Given the description of an element on the screen output the (x, y) to click on. 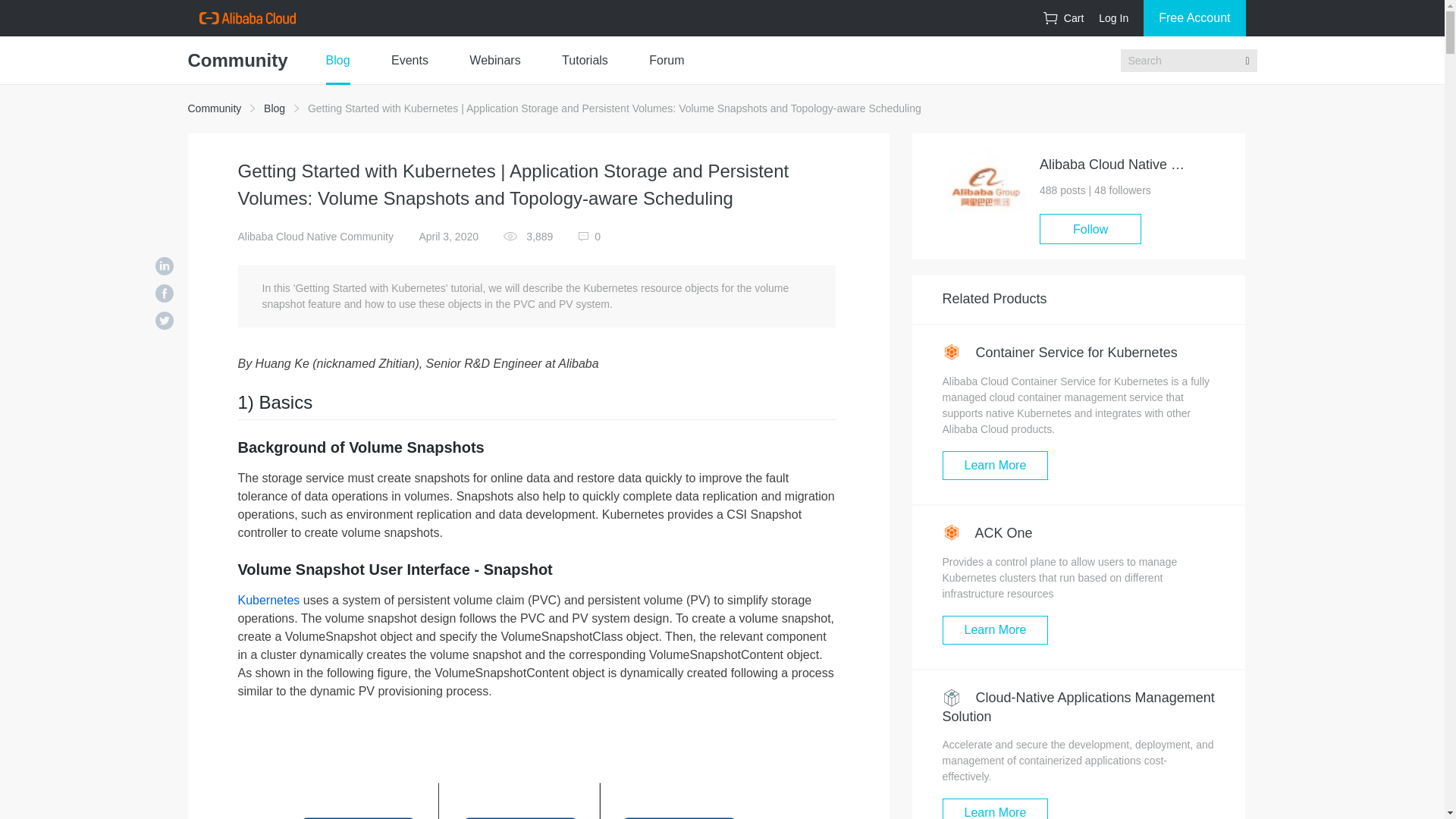
Community (214, 108)
Webinars (493, 60)
Free Account (1193, 18)
  Cart (1062, 17)
Blog (274, 108)
1 (536, 765)
Log In (1112, 17)
0 (588, 236)
Alibaba Cloud Native Community (315, 236)
Kubernetes (268, 599)
Tutorials (585, 60)
AliCloud (246, 18)
